Given the description of an element on the screen output the (x, y) to click on. 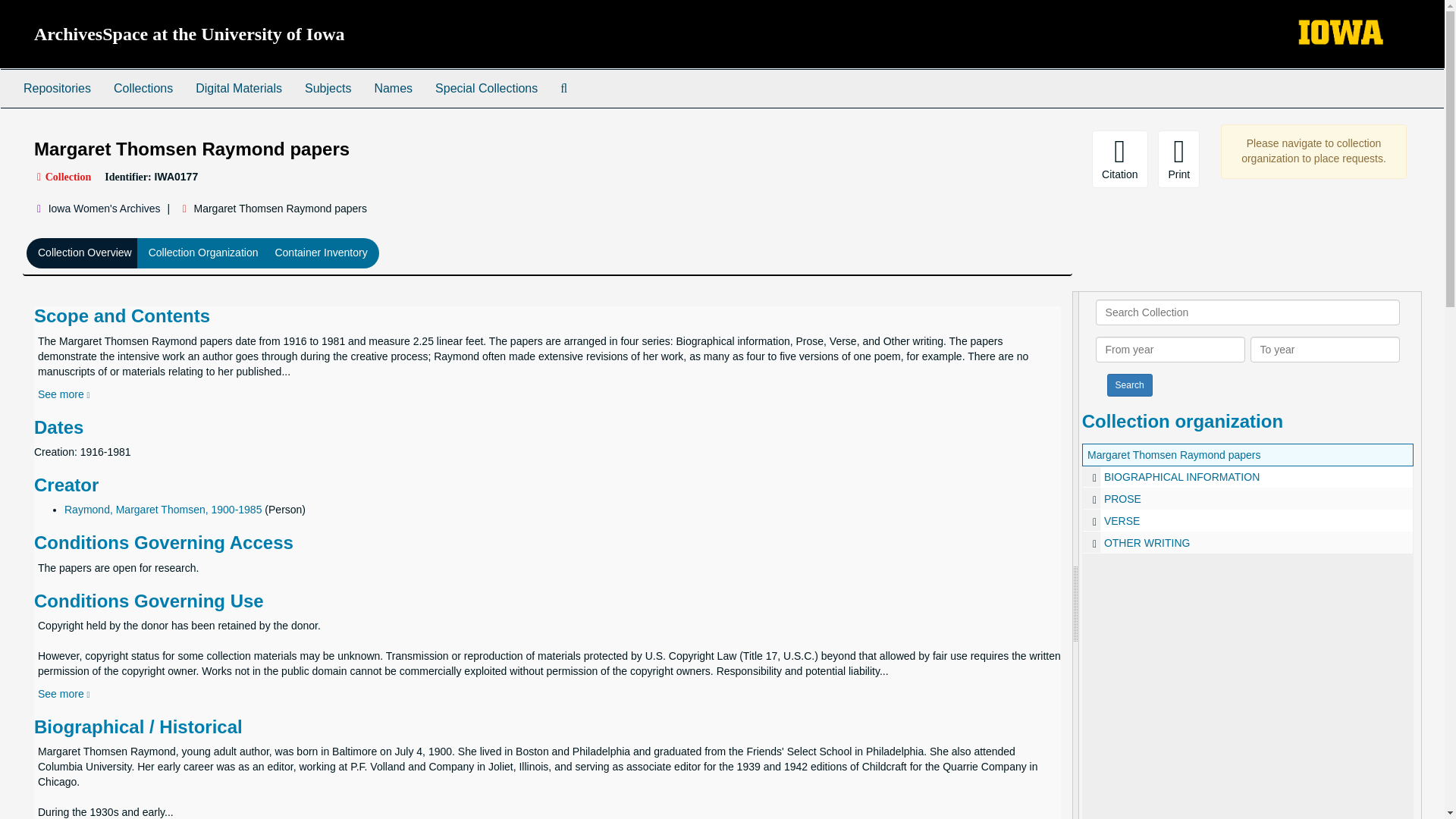
Special Collections (485, 88)
Names (392, 88)
See more (63, 693)
BIOGRAPHICAL INFORMATION (1247, 476)
VERSE (1247, 520)
Collection Organization (202, 253)
Search (1129, 384)
Raymond, Margaret Thomsen, 1900-1985 (163, 509)
Container Inventory (320, 253)
See more (63, 394)
